Given the description of an element on the screen output the (x, y) to click on. 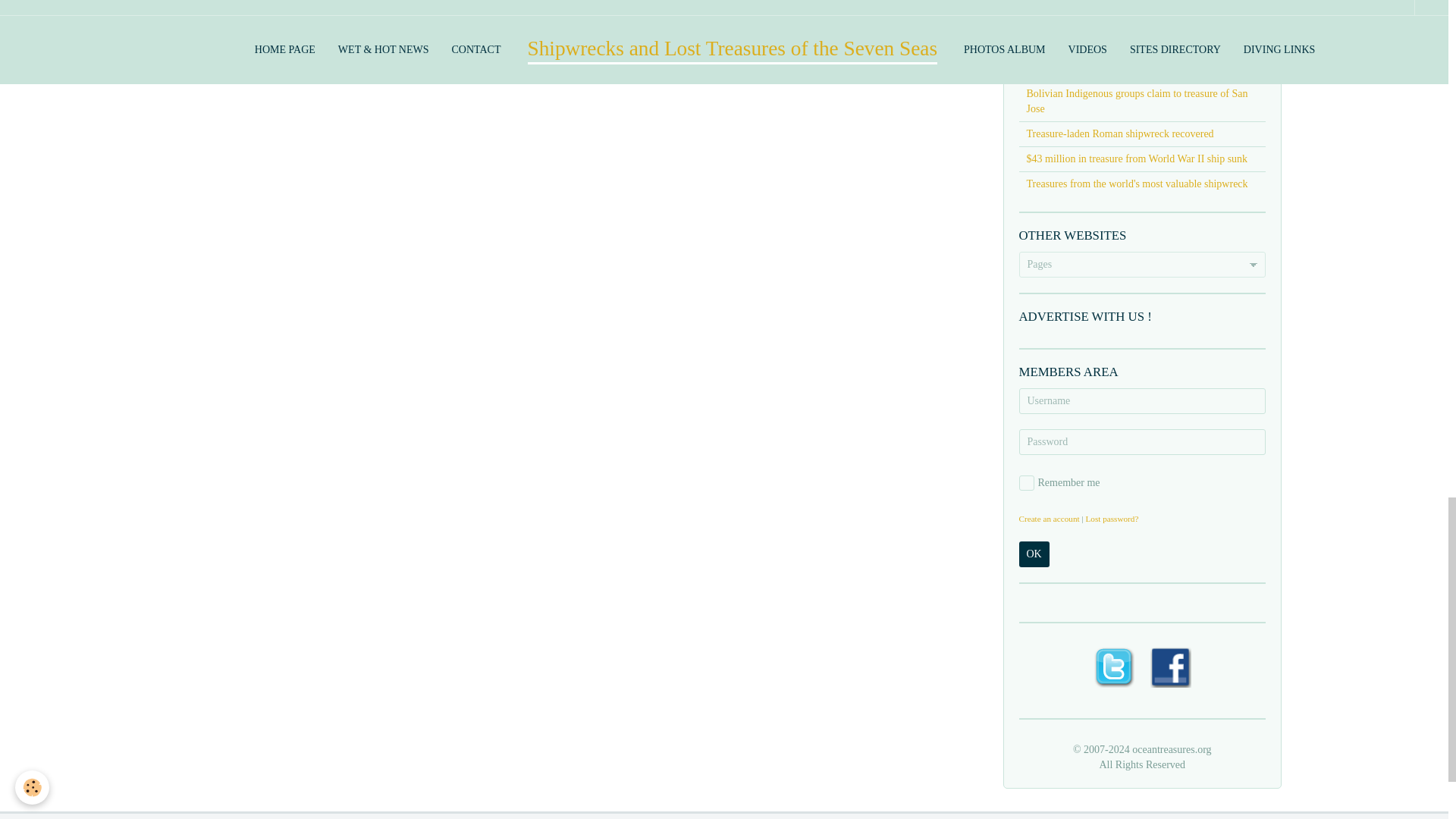
search (1100, 6)
Facebook (1170, 665)
Twitter (1113, 665)
